Given the description of an element on the screen output the (x, y) to click on. 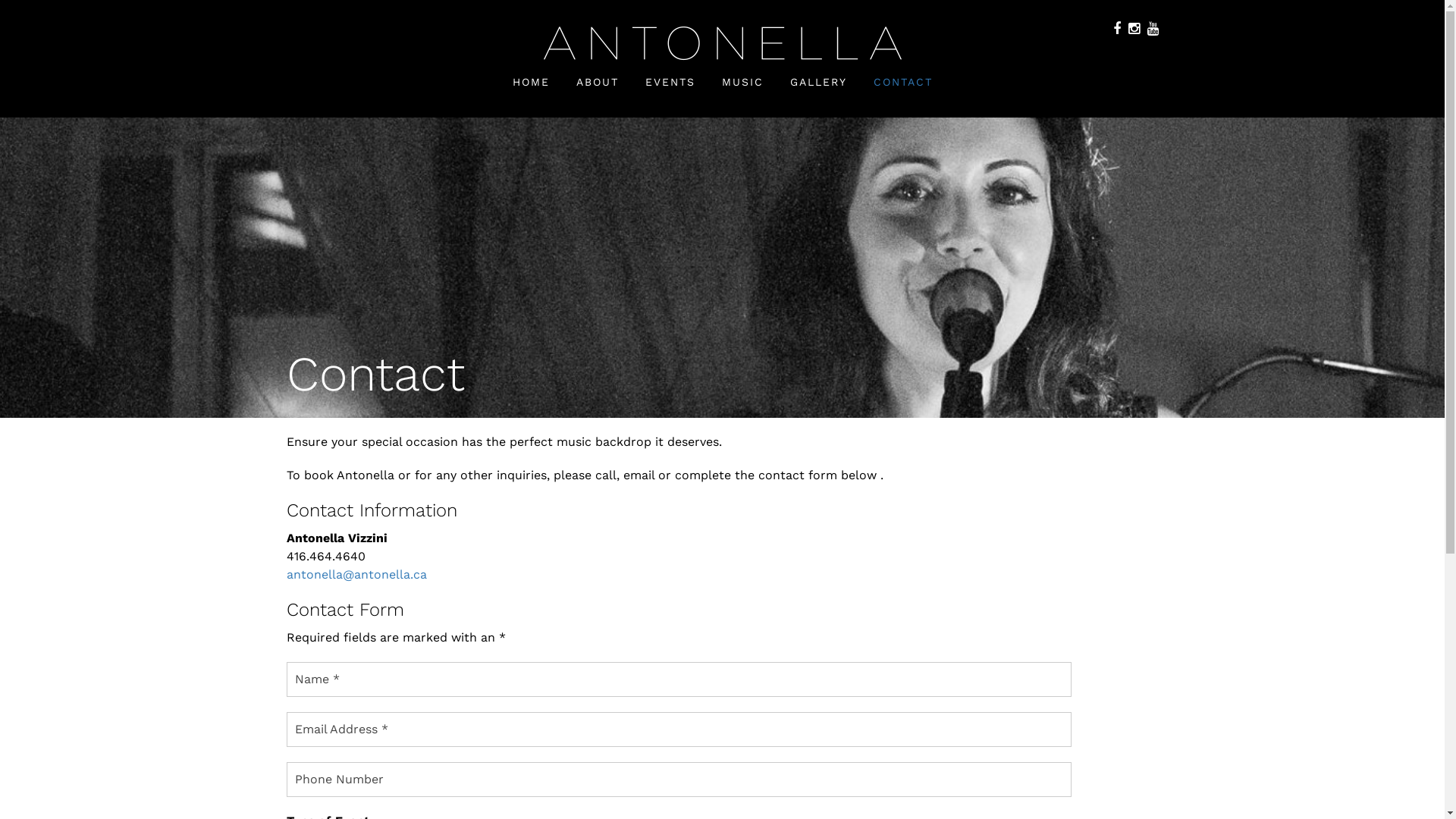
antonella@antonella.ca Element type: text (356, 574)
HOME Element type: text (530, 81)
CONTACT Element type: text (902, 81)
ABOUT Element type: text (597, 81)
GALLERY Element type: text (818, 81)
MUSIC Element type: text (742, 81)
EVENTS Element type: text (669, 81)
